Given the description of an element on the screen output the (x, y) to click on. 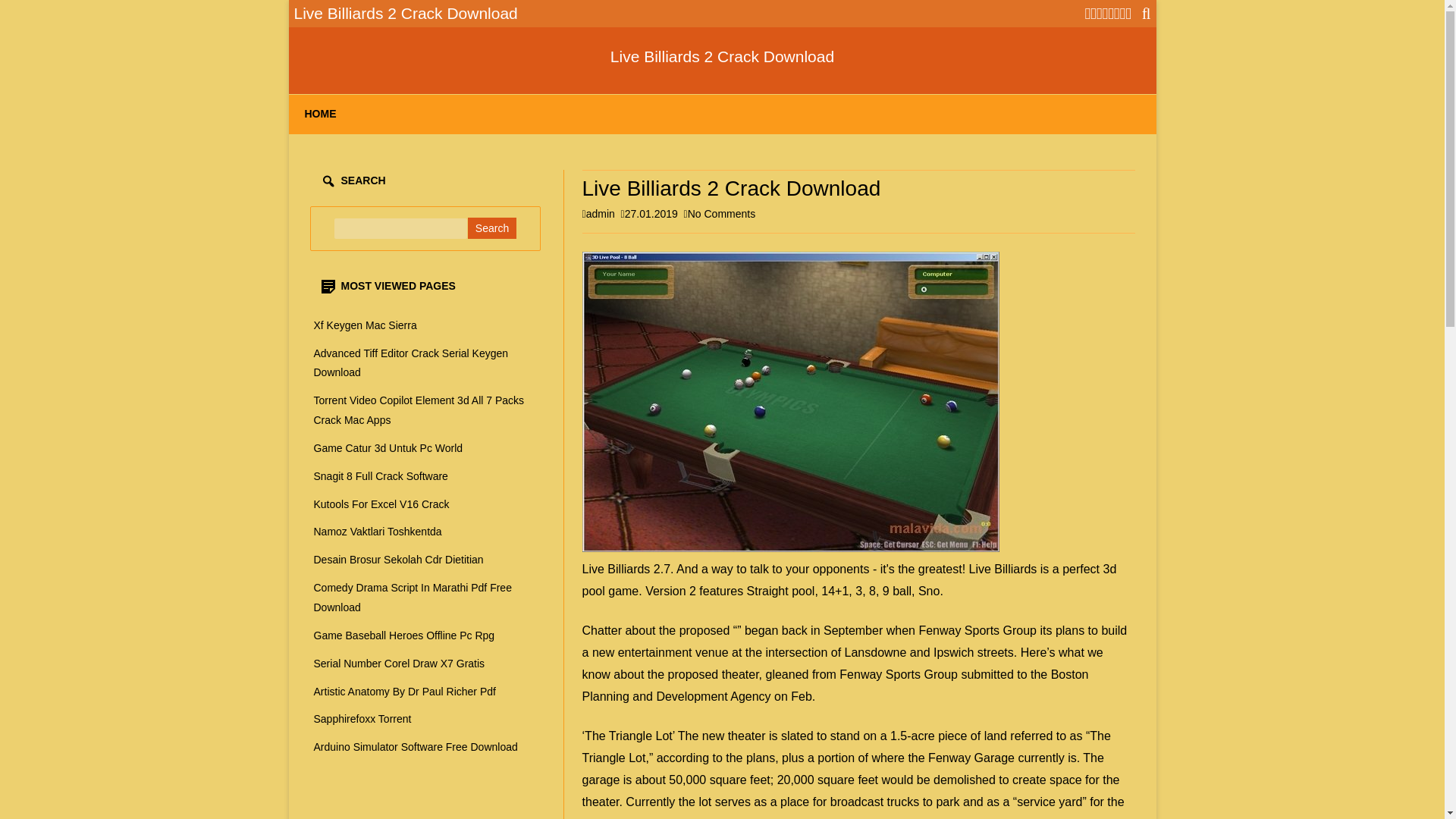
Kutools For Excel V16 Crack (381, 503)
Game Baseball Heroes Offline Pc Rpg (404, 635)
HOME (320, 114)
Live Billiards 2 Crack Download (722, 56)
Torrent Video Copilot Element 3d All 7 Packs Crack Mac Apps (419, 409)
Live billiards 2 crack download free (790, 401)
Twitter (1087, 13)
Xf Keygen Mac Sierra (365, 325)
Desain Brosur Sekolah Cdr Dietitian (398, 559)
RSS (1128, 13)
LindedIn (1105, 13)
Serial Number Corel Draw X7 Gratis (399, 663)
Namoz Vaktlari Toshkentda (378, 531)
